Given the description of an element on the screen output the (x, y) to click on. 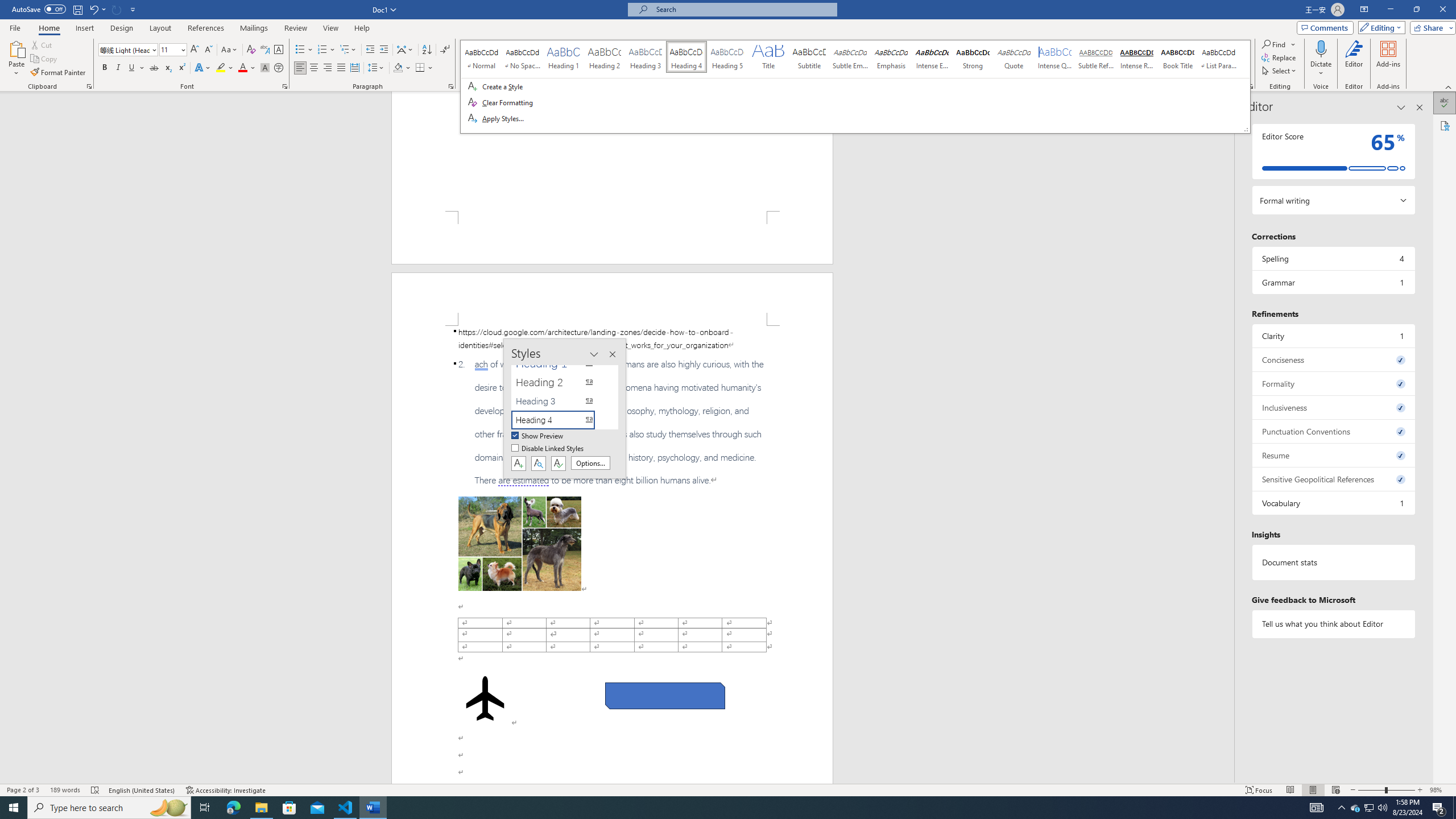
Editor Score 65% (1333, 151)
Resume, 0 issues. Press space or enter to review items. (1333, 454)
Microsoft Edge (233, 807)
Undo Style (92, 9)
Heading 1 (559, 363)
Q2790: 100% (1382, 807)
